Given the description of an element on the screen output the (x, y) to click on. 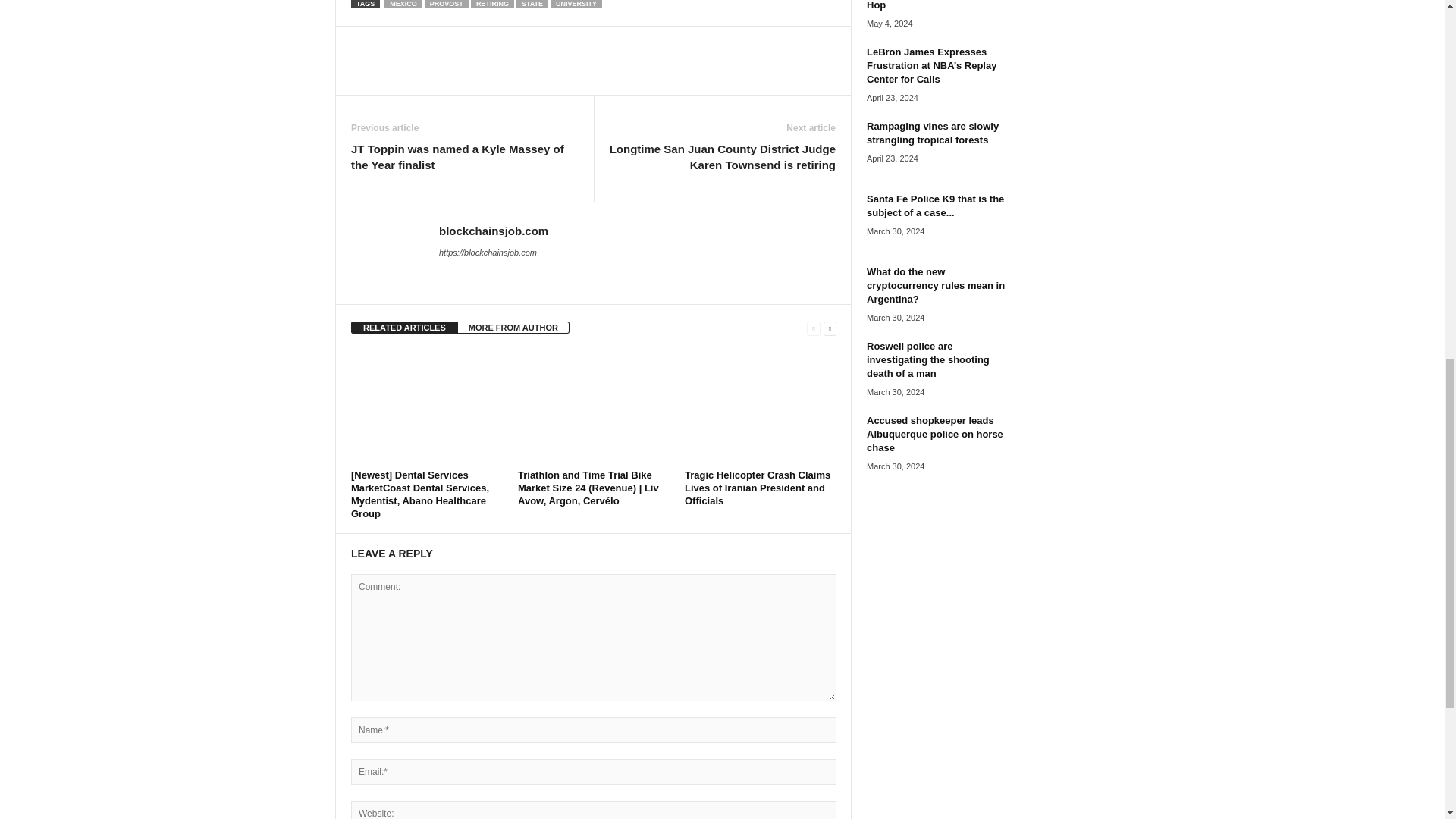
MEXICO (403, 4)
PROVOST (446, 4)
bottomFacebookLike (390, 41)
STATE (532, 4)
RETIRING (491, 4)
RELATED ARTICLES (404, 327)
blockchainsjob.com (493, 230)
MORE FROM AUTHOR (513, 327)
JT Toppin was named a Kyle Massey of the Year finalist (464, 156)
UNIVERSITY (576, 4)
